Given the description of an element on the screen output the (x, y) to click on. 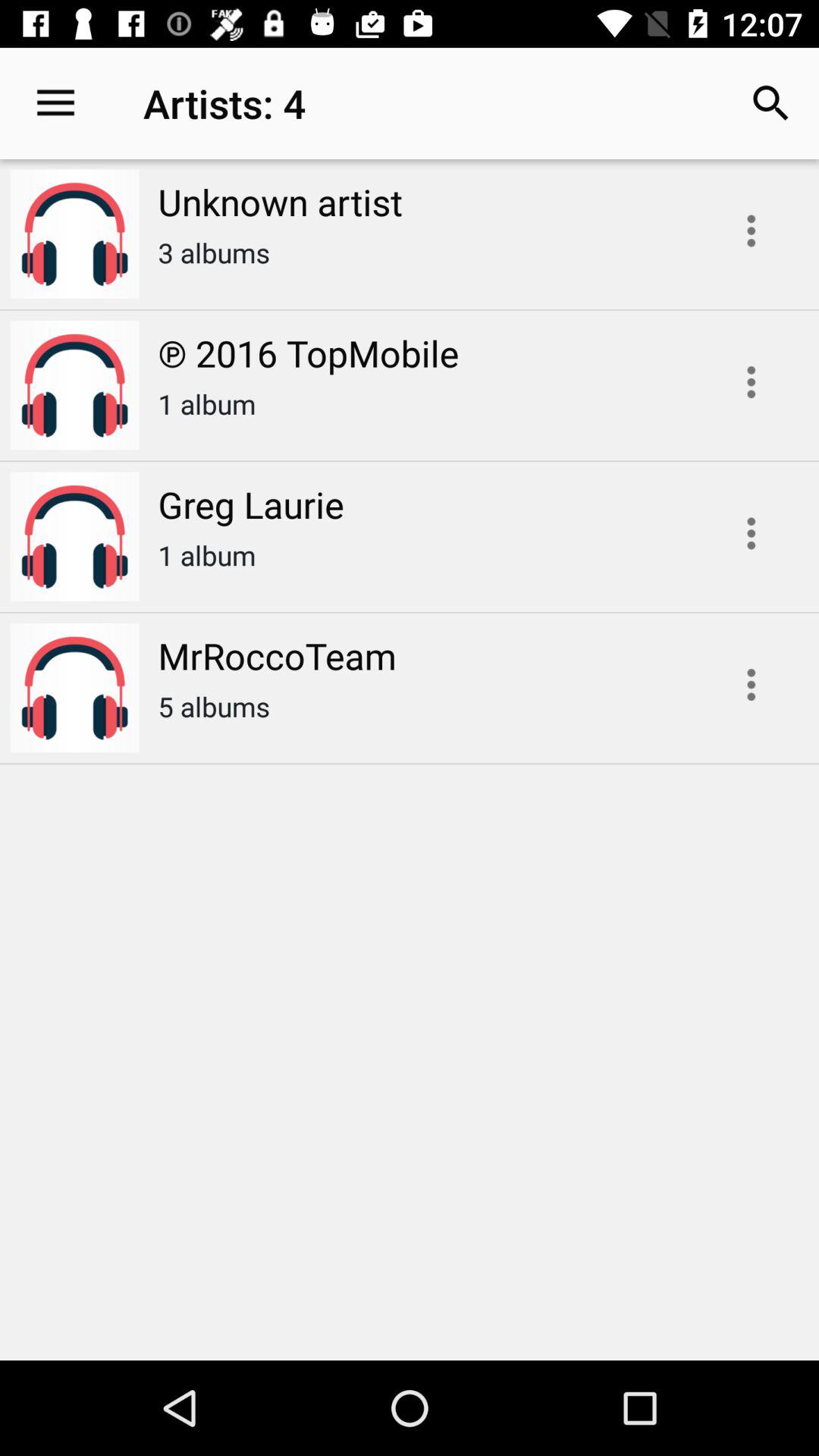
choose icon next to the artists: 4 icon (771, 103)
